Given the description of an element on the screen output the (x, y) to click on. 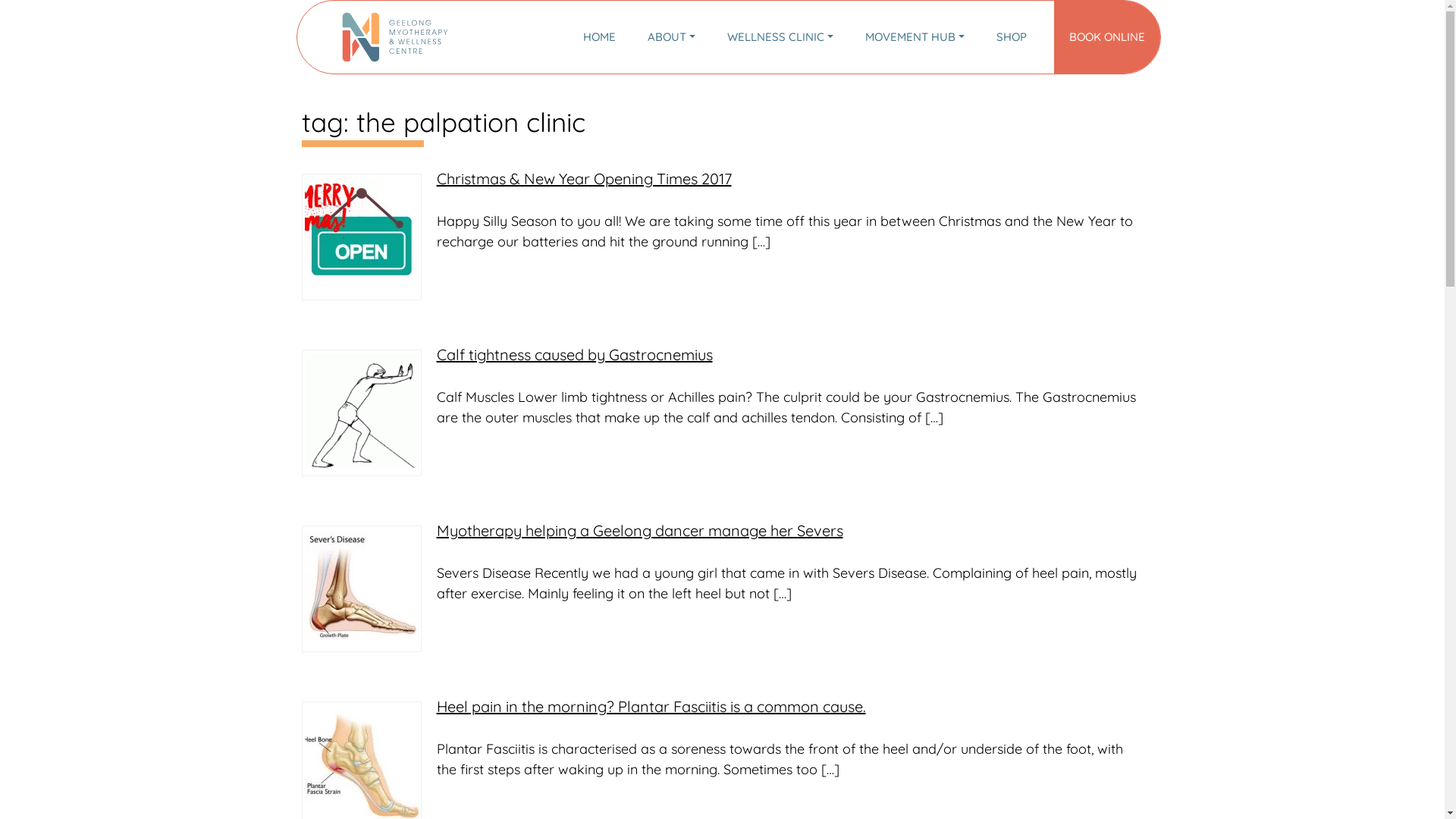
Myotherapy helping a Geelong dancer manage her Severs Element type: text (639, 529)
ABOUT Element type: text (671, 37)
MOVEMENT HUB Element type: text (914, 37)
BOOK ONLINE Element type: text (1107, 37)
Christmas & New Year Opening Times 2017 Element type: text (583, 178)
Calf tightness caused by Gastrocnemius Element type: text (574, 354)
HOME Element type: text (599, 37)
SHOP Element type: text (1010, 37)
WELLNESS CLINIC Element type: text (780, 37)
